Given the description of an element on the screen output the (x, y) to click on. 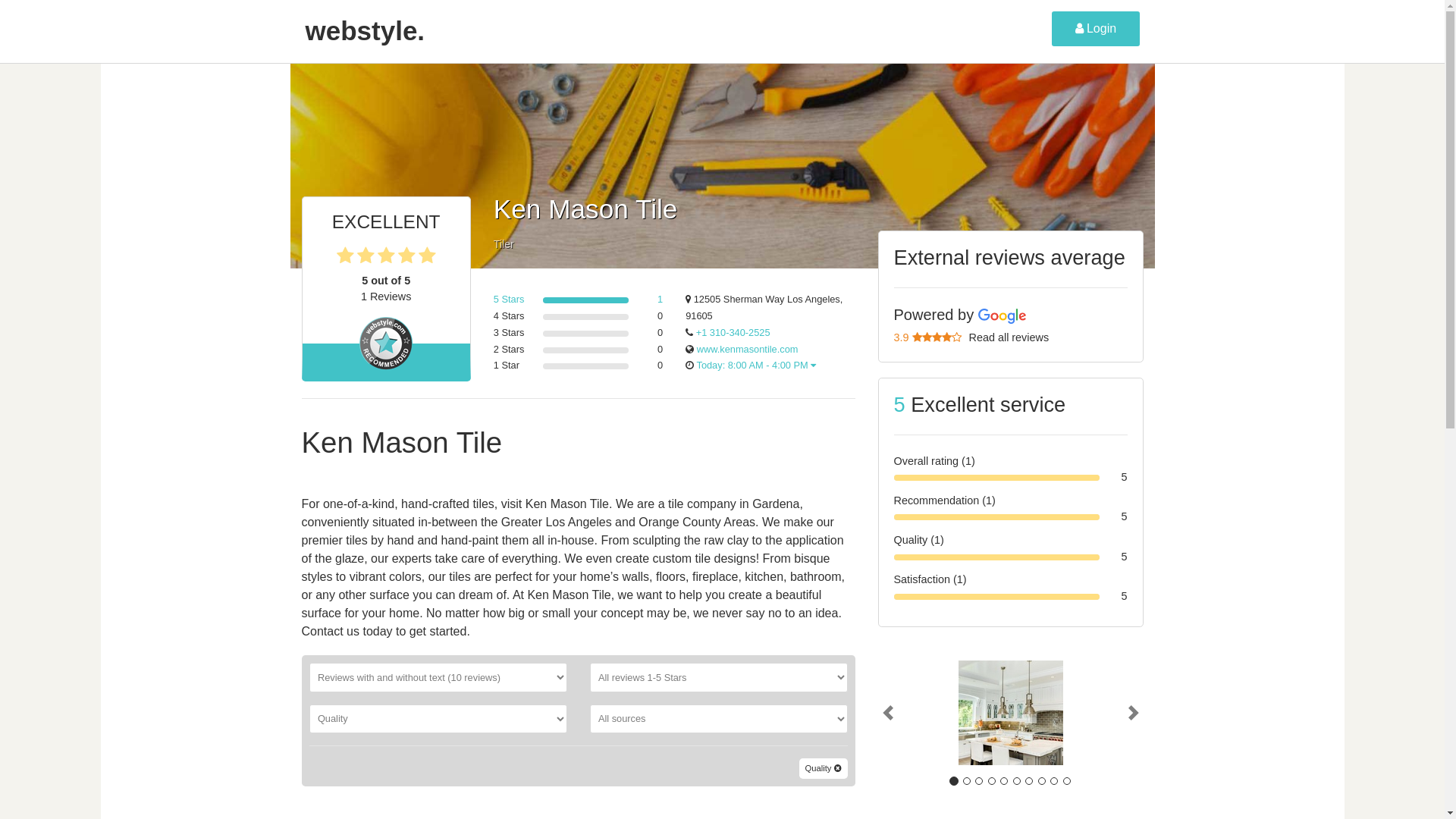
Quality (823, 768)
webstyle (364, 31)
Read all reviews (1009, 337)
5 Stars (508, 298)
Ken Mason Tile (1009, 712)
Quality (823, 768)
webstyle. (364, 31)
Login (1094, 28)
Today: 8:00 AM - 4:00 PM (755, 365)
www.kenmasontile.com (747, 348)
